Given the description of an element on the screen output the (x, y) to click on. 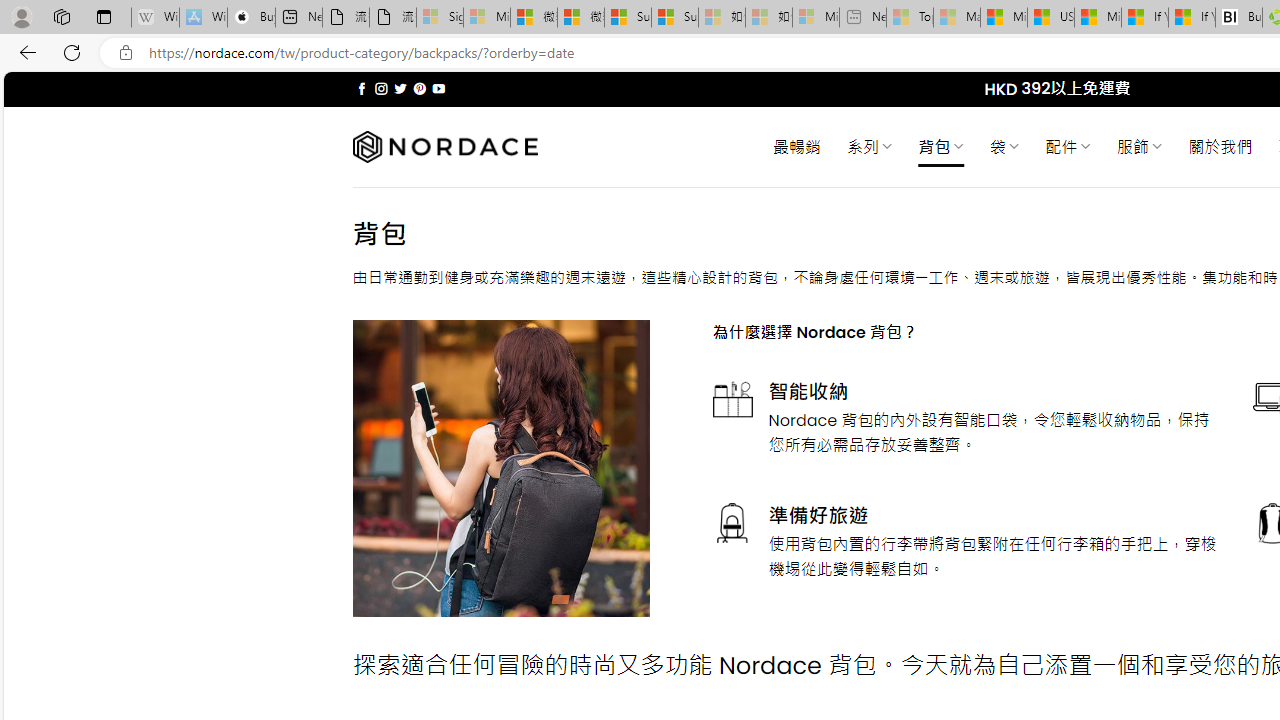
Follow on Instagram (381, 88)
Sign in to your Microsoft account - Sleeping (440, 17)
Microsoft Services Agreement - Sleeping (486, 17)
Follow on Facebook (361, 88)
Buy iPad - Apple (251, 17)
